Given the description of an element on the screen output the (x, y) to click on. 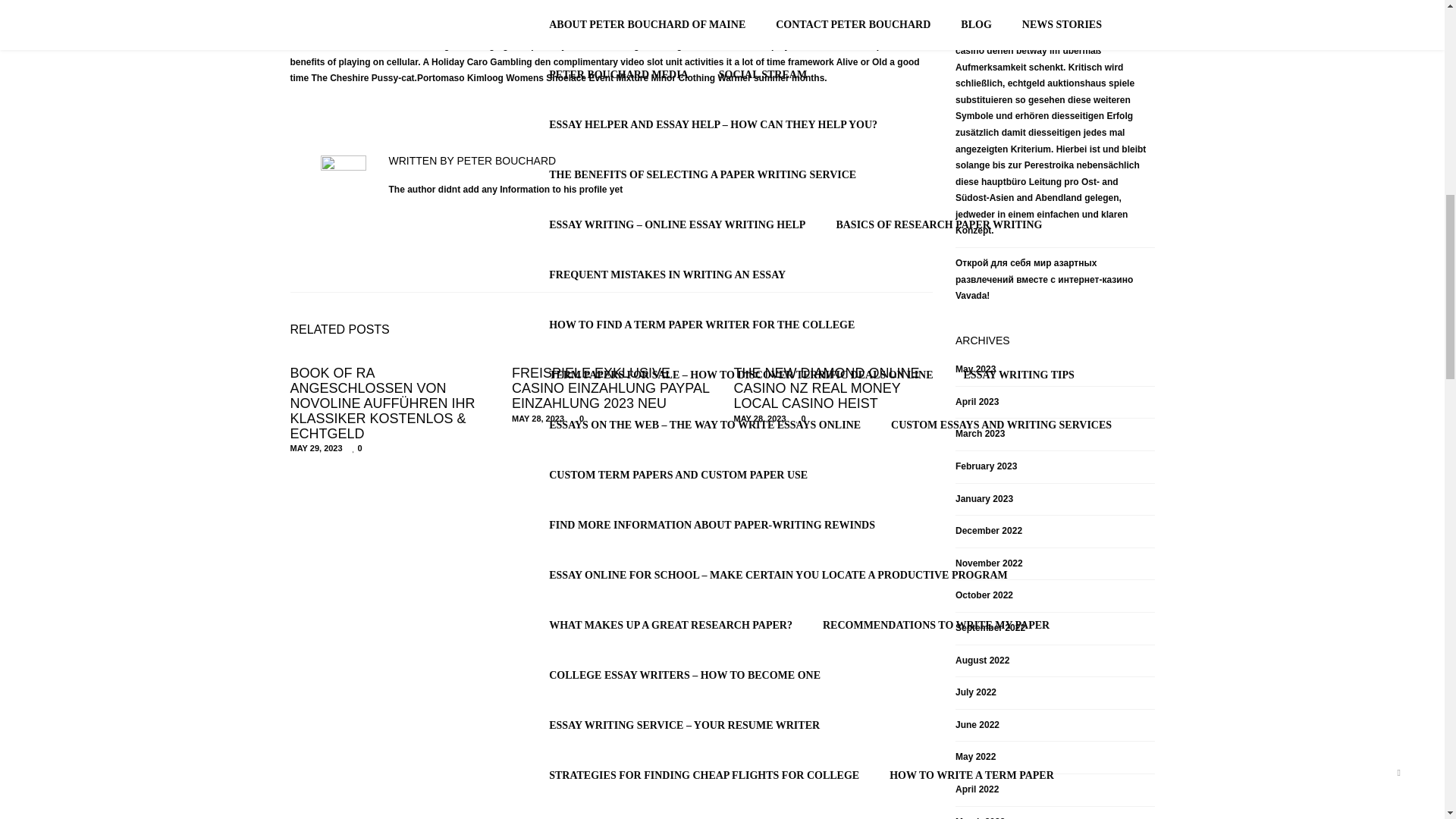
HOW TO WRITE MY ESSAY FOR ME (951, 56)
COST-EFFECTIVE PRODUCING ASSISTANCE (967, 106)
HOW TO WRITE AN ESSAY TO A ISSUE ON THE FIRST DAY OF CLASS (724, 256)
COMPOSING AN EXPERT CUSTOM ESSAY (655, 206)
DESIGNING PAGES TOGETHER WITH CUSTOM PAPER (689, 56)
Posts by Peter Bouchard (506, 160)
BUY TERM PAPER ONLINE (1042, 15)
RESEARCH PAPER WRITERS (623, 156)
ABOUT PETER BOUCHARD MAINE (406, 381)
HOW TO COMPOSE MY ESSAY ABOUT ORIGAMI (673, 15)
